Given the description of an element on the screen output the (x, y) to click on. 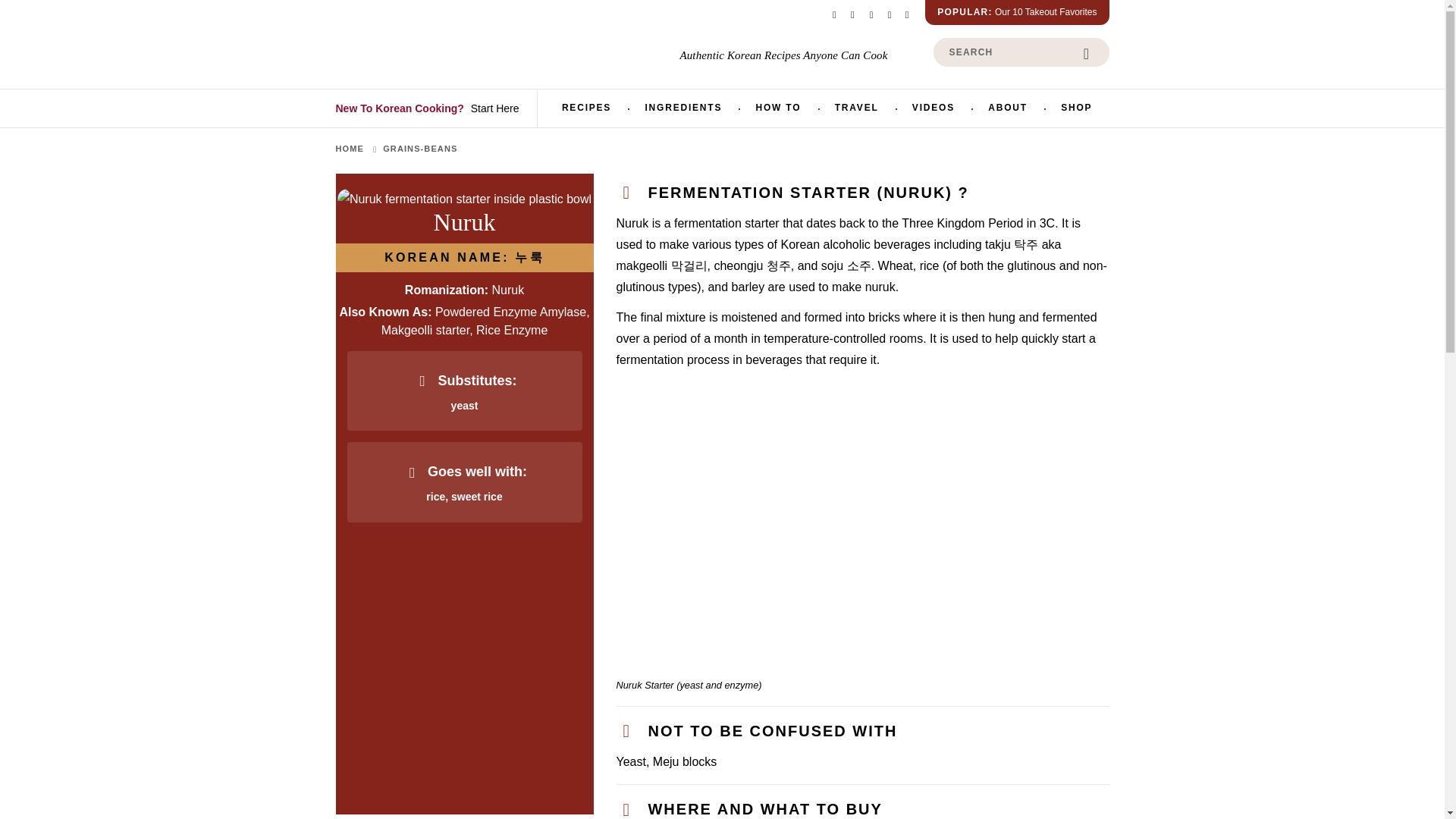
Facebook (834, 14)
New To Korean Cooking? Start Here (429, 108)
Pinterest (870, 14)
Instagram (852, 14)
VIDEOS (933, 107)
YouTube (906, 14)
POPULAR: Our 10 Takeout Favorites (1016, 12)
RECIPES (586, 107)
INGREDIENTS (683, 107)
